Given the description of an element on the screen output the (x, y) to click on. 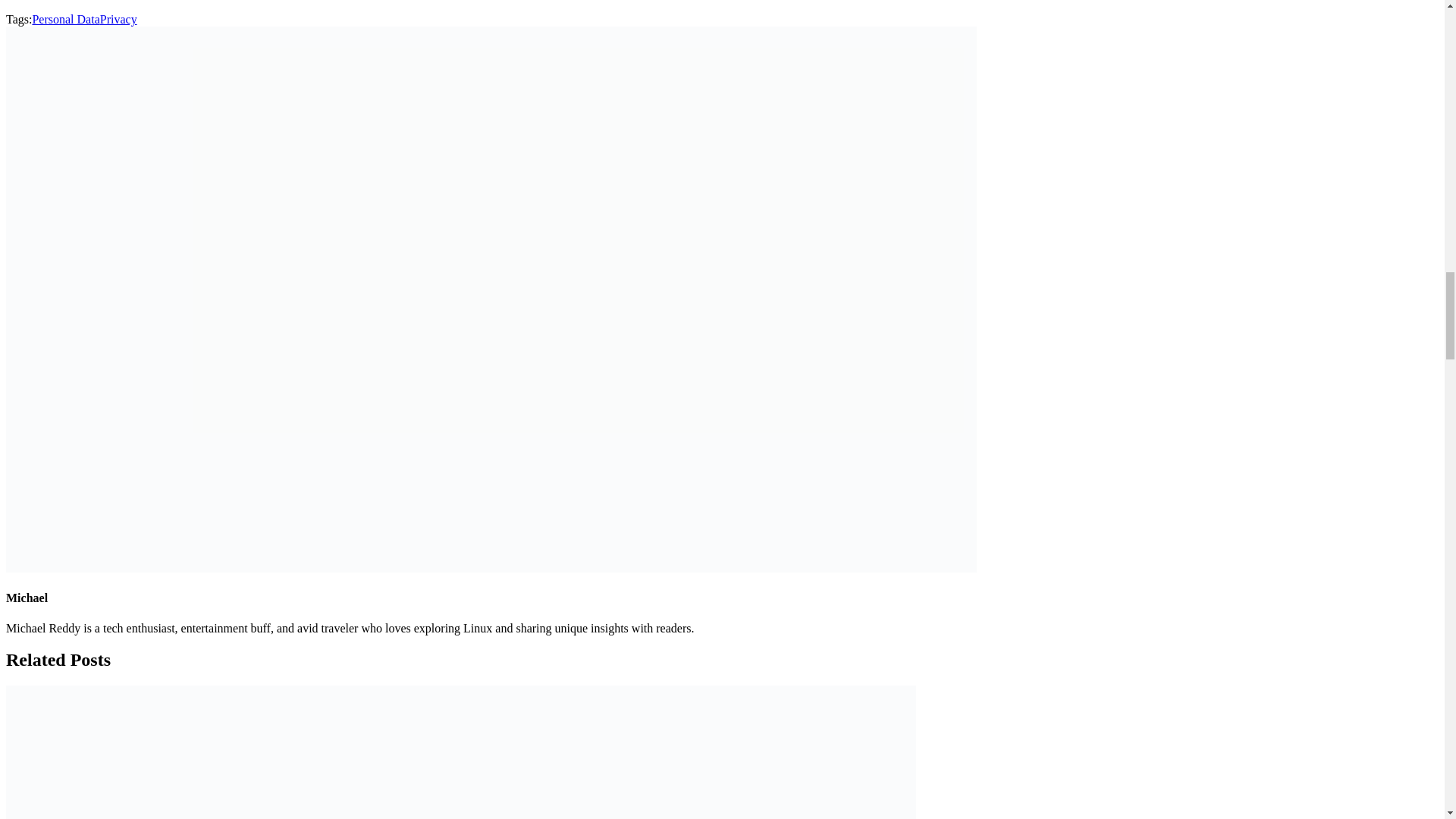
Personal Data (65, 19)
Privacy (118, 19)
Personal Data (65, 19)
Privacy (118, 19)
